Given the description of an element on the screen output the (x, y) to click on. 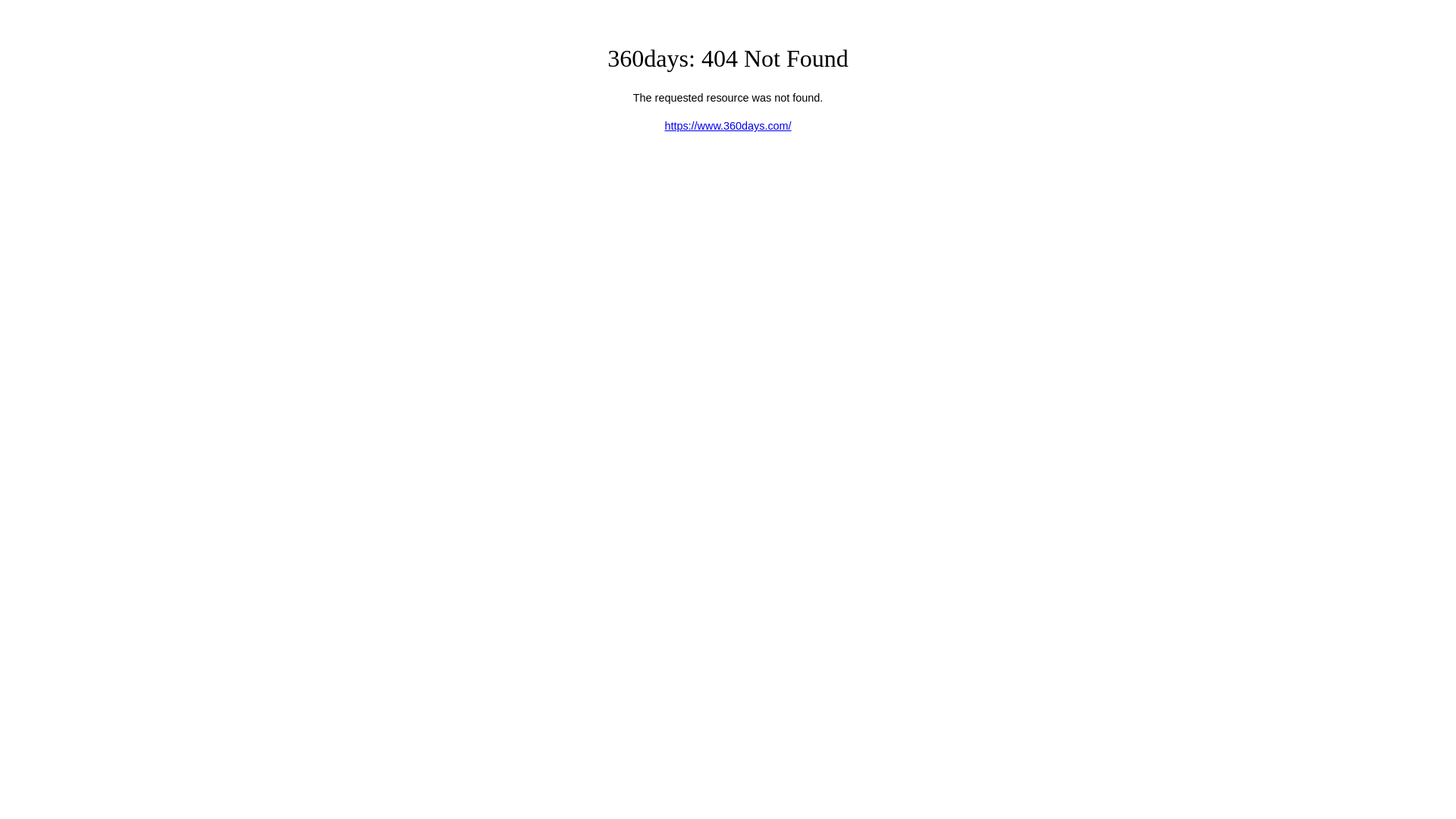
https://www.360days.com/ Element type: text (727, 125)
